Given the description of an element on the screen output the (x, y) to click on. 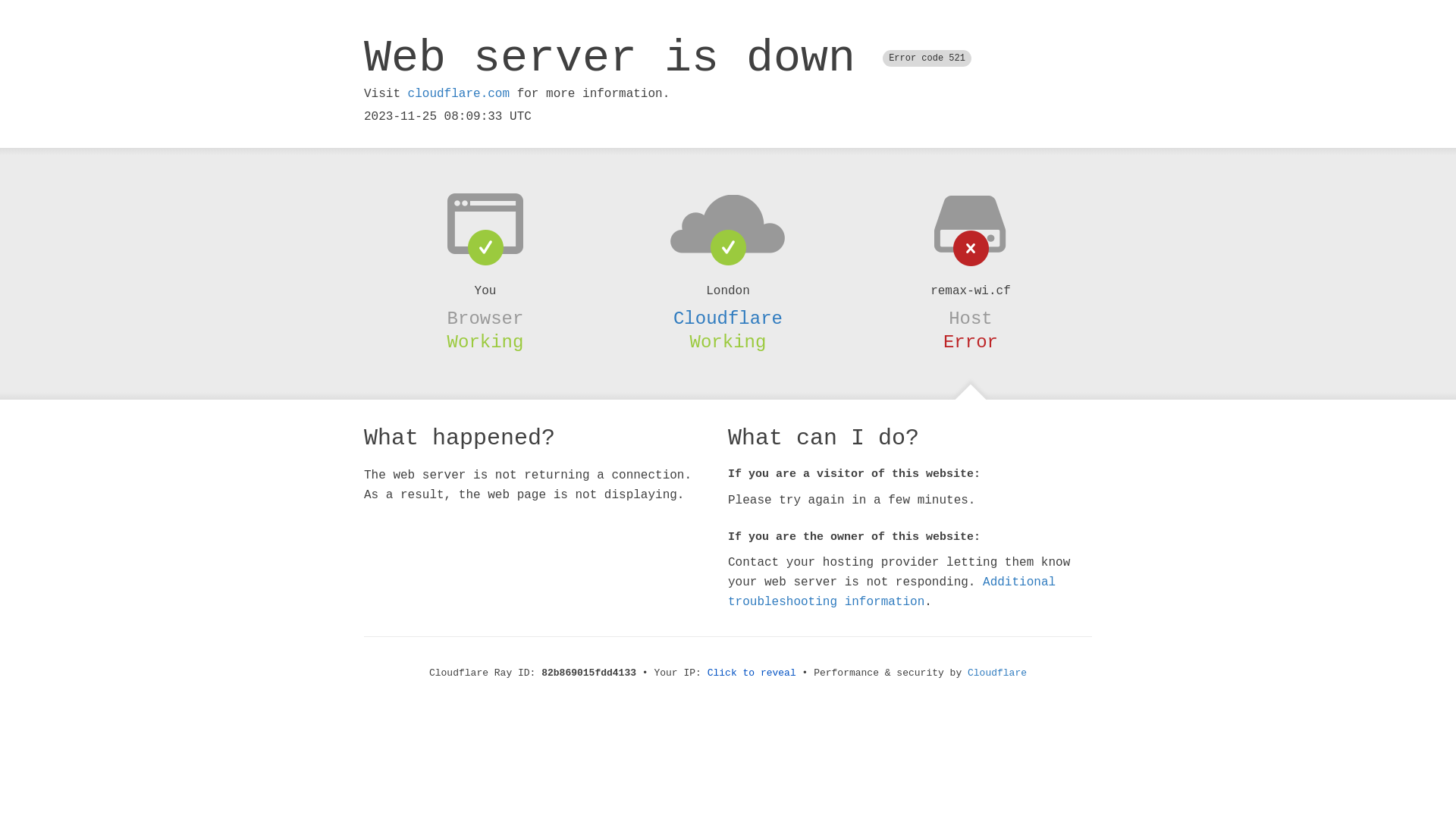
Cloudflare Element type: text (727, 318)
Additional troubleshooting information Element type: text (891, 591)
Cloudflare Element type: text (996, 672)
Click to reveal Element type: text (751, 672)
cloudflare.com Element type: text (458, 93)
